Given the description of an element on the screen output the (x, y) to click on. 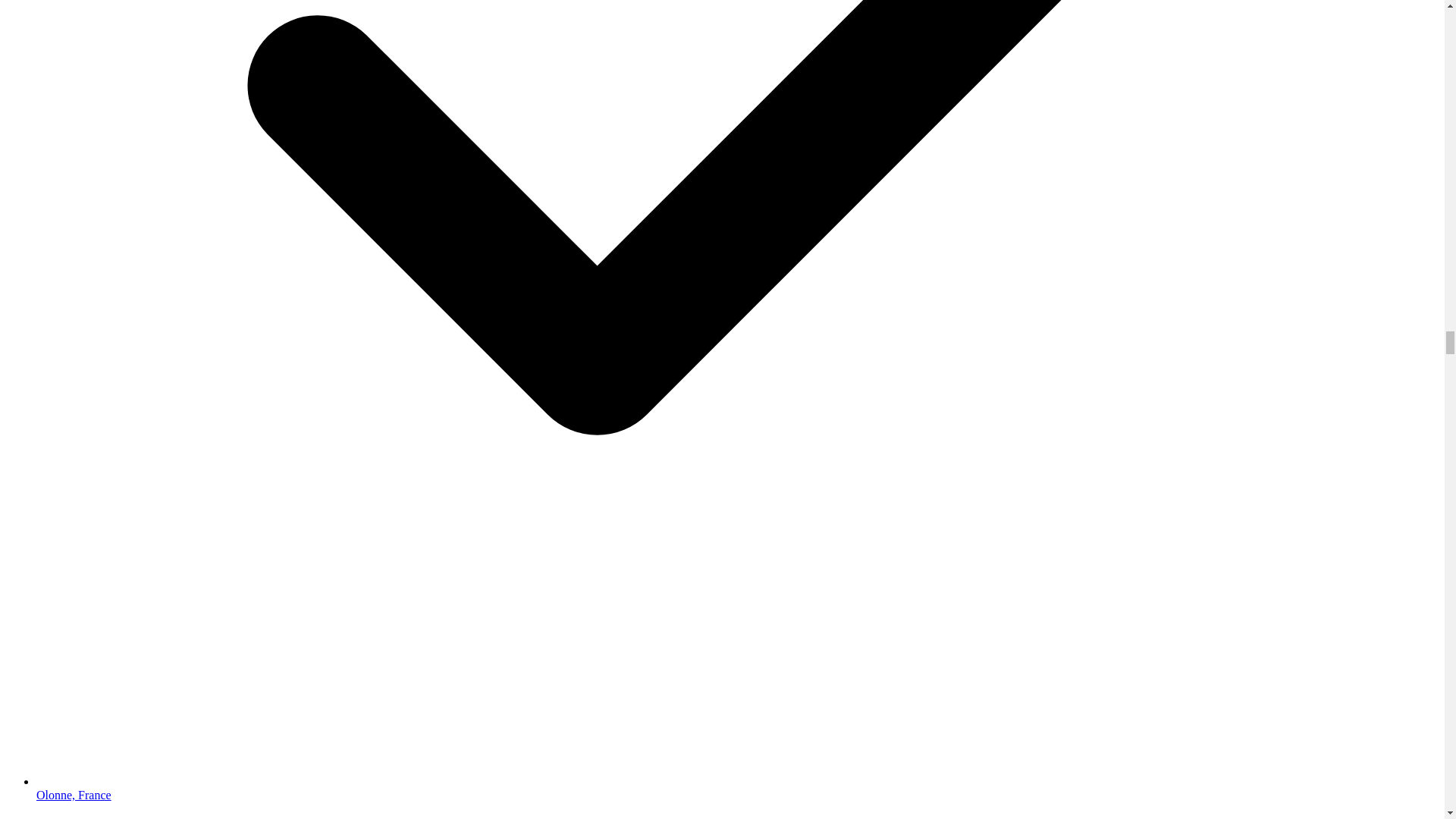
Olonne, France (74, 794)
